Given the description of an element on the screen output the (x, y) to click on. 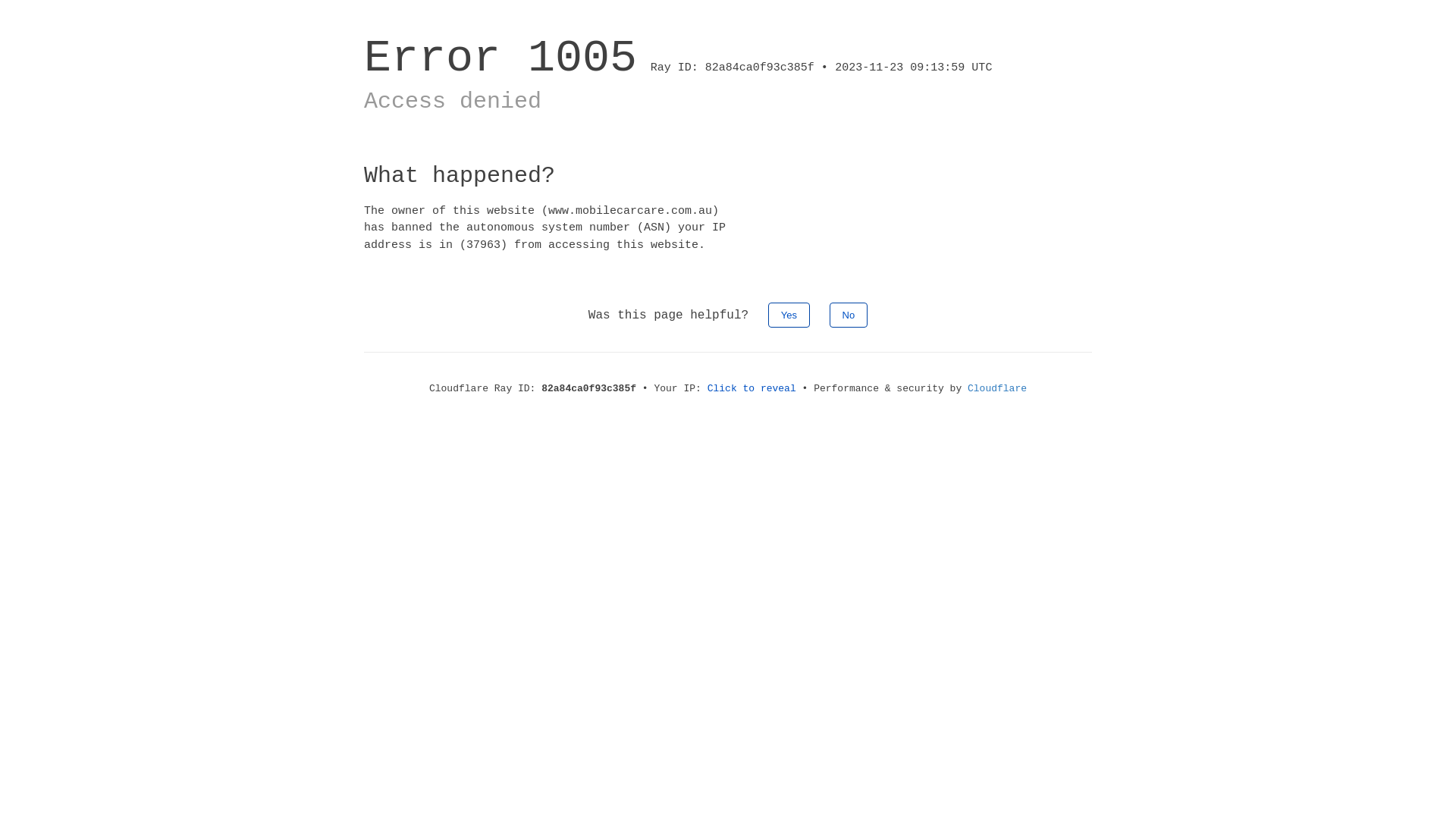
Click to reveal Element type: text (751, 388)
Cloudflare Element type: text (996, 388)
Yes Element type: text (788, 314)
No Element type: text (848, 314)
